Given the description of an element on the screen output the (x, y) to click on. 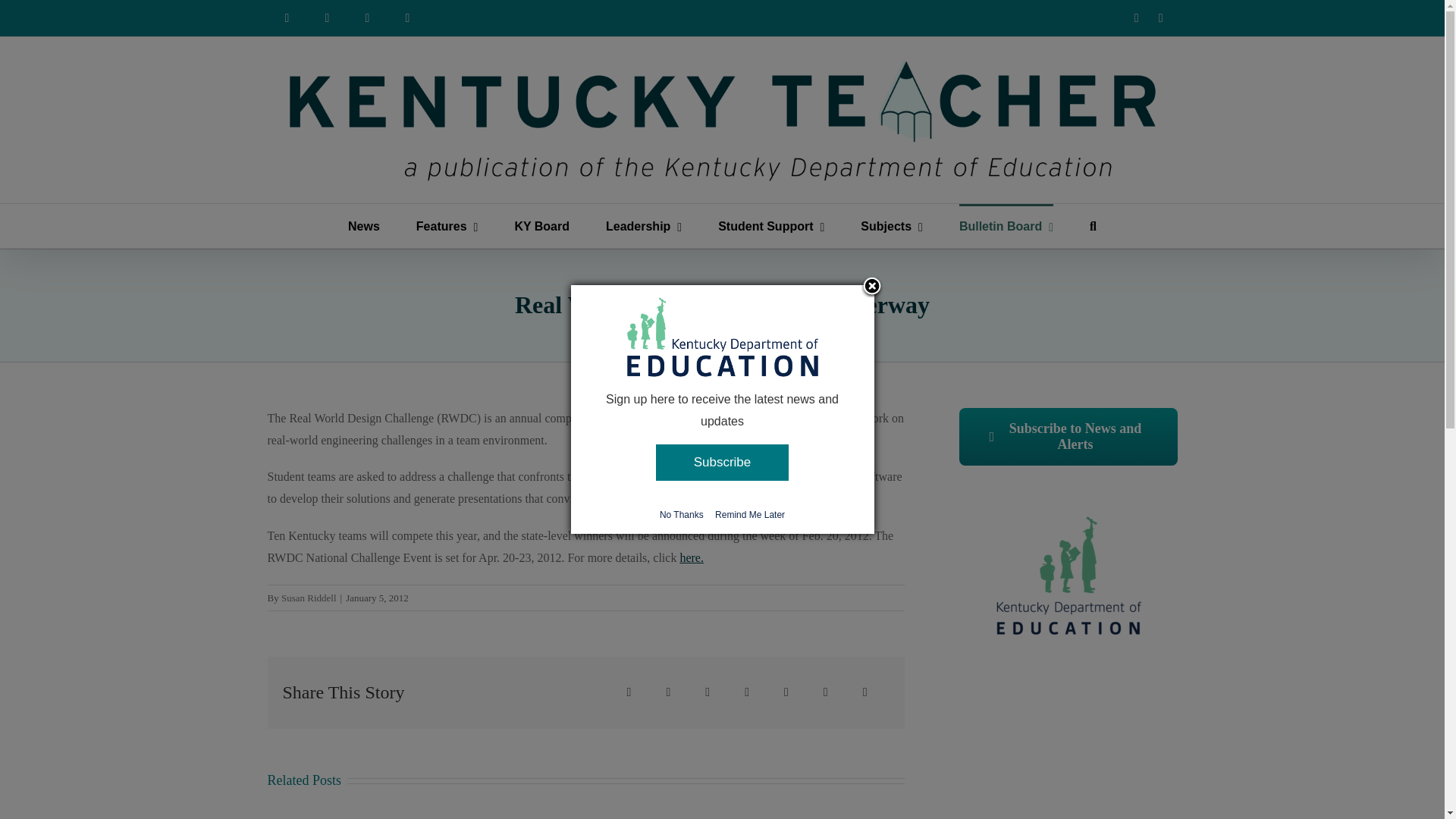
Features (447, 225)
Subjects (891, 225)
Home (285, 18)
Student Support (770, 225)
Contact (408, 18)
Bulletin Board (1005, 225)
About (327, 18)
Posts by Susan Riddell (308, 597)
Leadership (643, 225)
Staff (367, 18)
KY Board (541, 225)
